Given the description of an element on the screen output the (x, y) to click on. 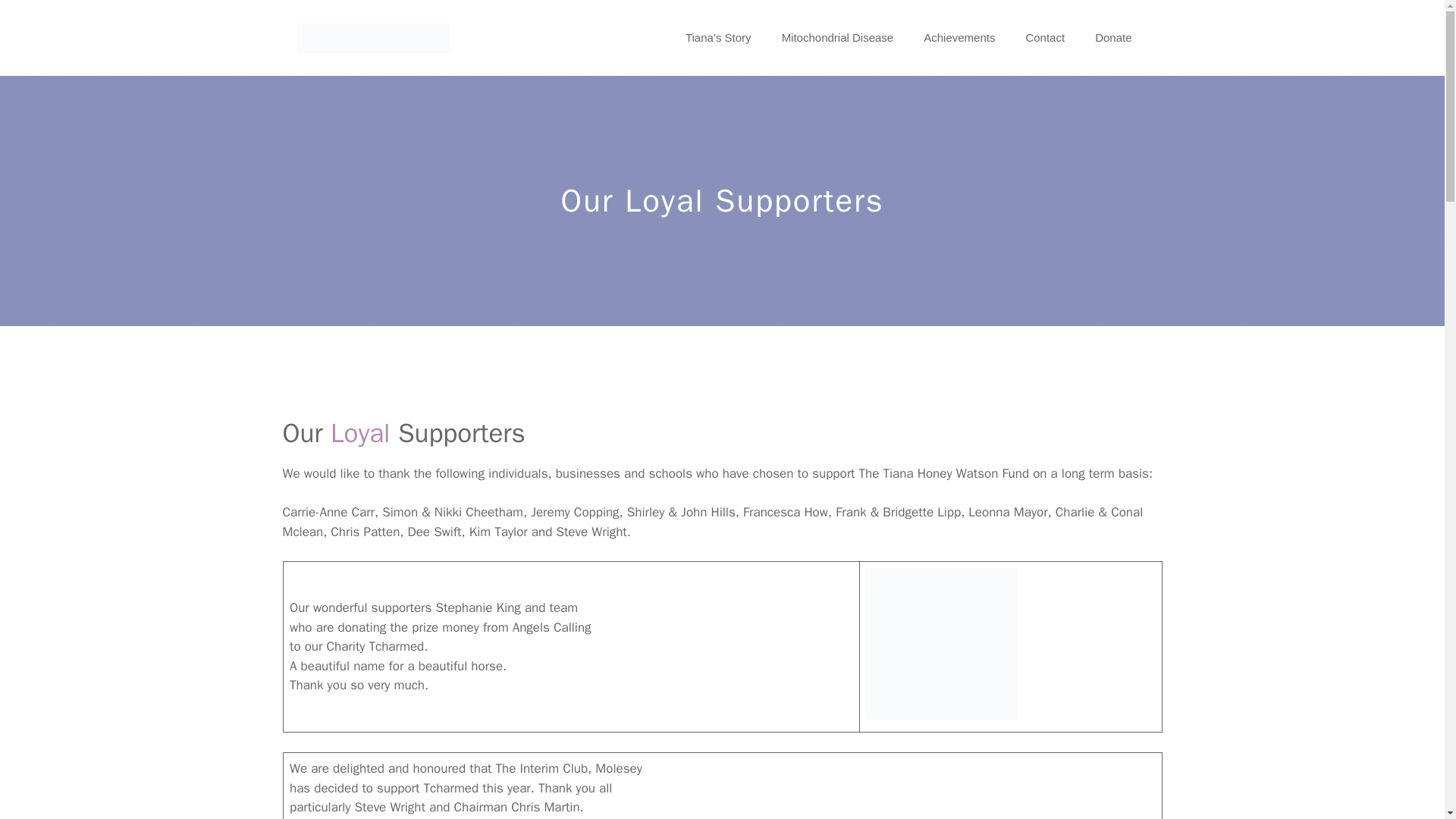
Mitochondrial Disease (837, 37)
Achievements (959, 37)
Contact (1045, 37)
Donate (1113, 37)
